Given the description of an element on the screen output the (x, y) to click on. 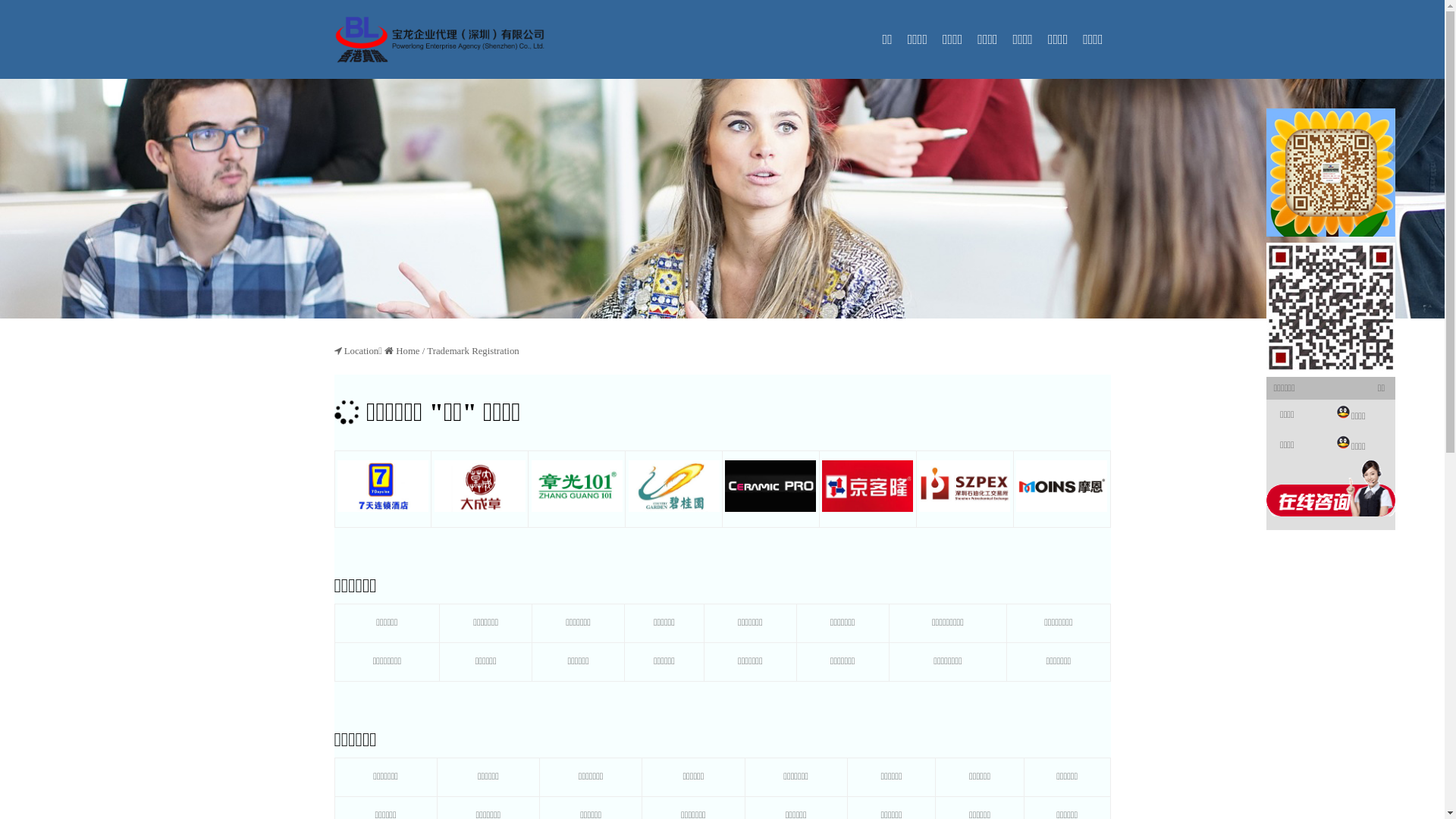
Home Element type: text (407, 350)
